Given the description of an element on the screen output the (x, y) to click on. 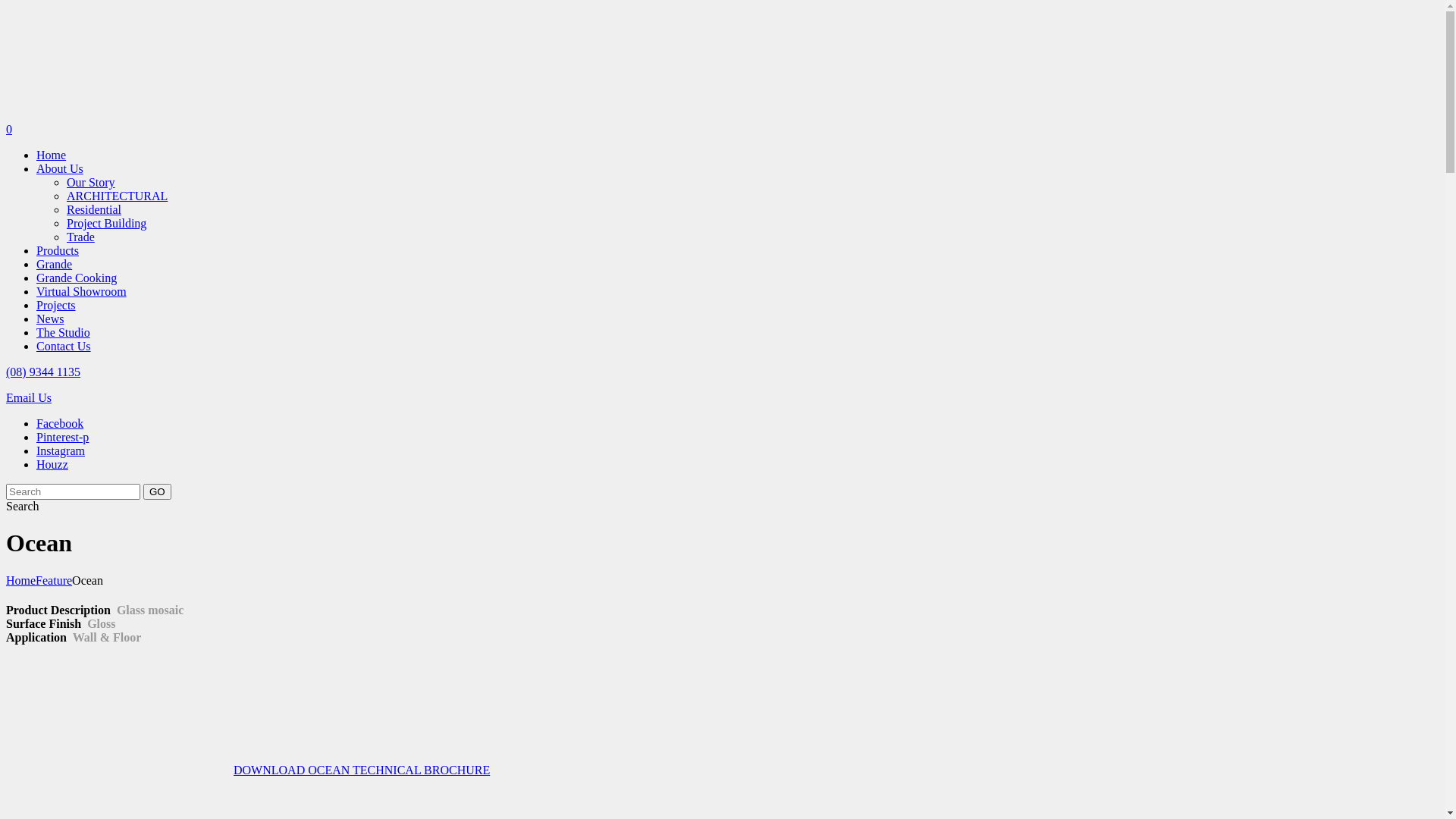
About Us Element type: text (59, 168)
Home Element type: text (20, 580)
The Studio Element type: text (63, 332)
Projects Element type: text (55, 304)
Contact Us Element type: text (63, 345)
Instagram Element type: text (60, 450)
Trade Element type: text (80, 236)
GO Element type: text (157, 491)
Email Us Element type: text (28, 397)
Odin Tiles + Coverings Element type: hover (119, 115)
Home Element type: text (50, 154)
(08) 9344 1135 Element type: text (43, 371)
DOWNLOAD OCEAN TECHNICAL BROCHURE Element type: text (247, 769)
Houzz Element type: text (52, 464)
Our Story Element type: text (90, 181)
Grande Element type: text (54, 263)
Virtual Showroom Element type: text (81, 291)
Residential Element type: text (93, 209)
Products Element type: text (57, 250)
0 Element type: text (722, 129)
Facebook Element type: text (59, 423)
Feature Element type: text (53, 580)
Pinterest-p Element type: text (62, 436)
Grande Cooking Element type: text (76, 277)
News Element type: text (49, 318)
ARCHITECTURAL Element type: text (116, 195)
Project Building Element type: text (106, 222)
